Given the description of an element on the screen output the (x, y) to click on. 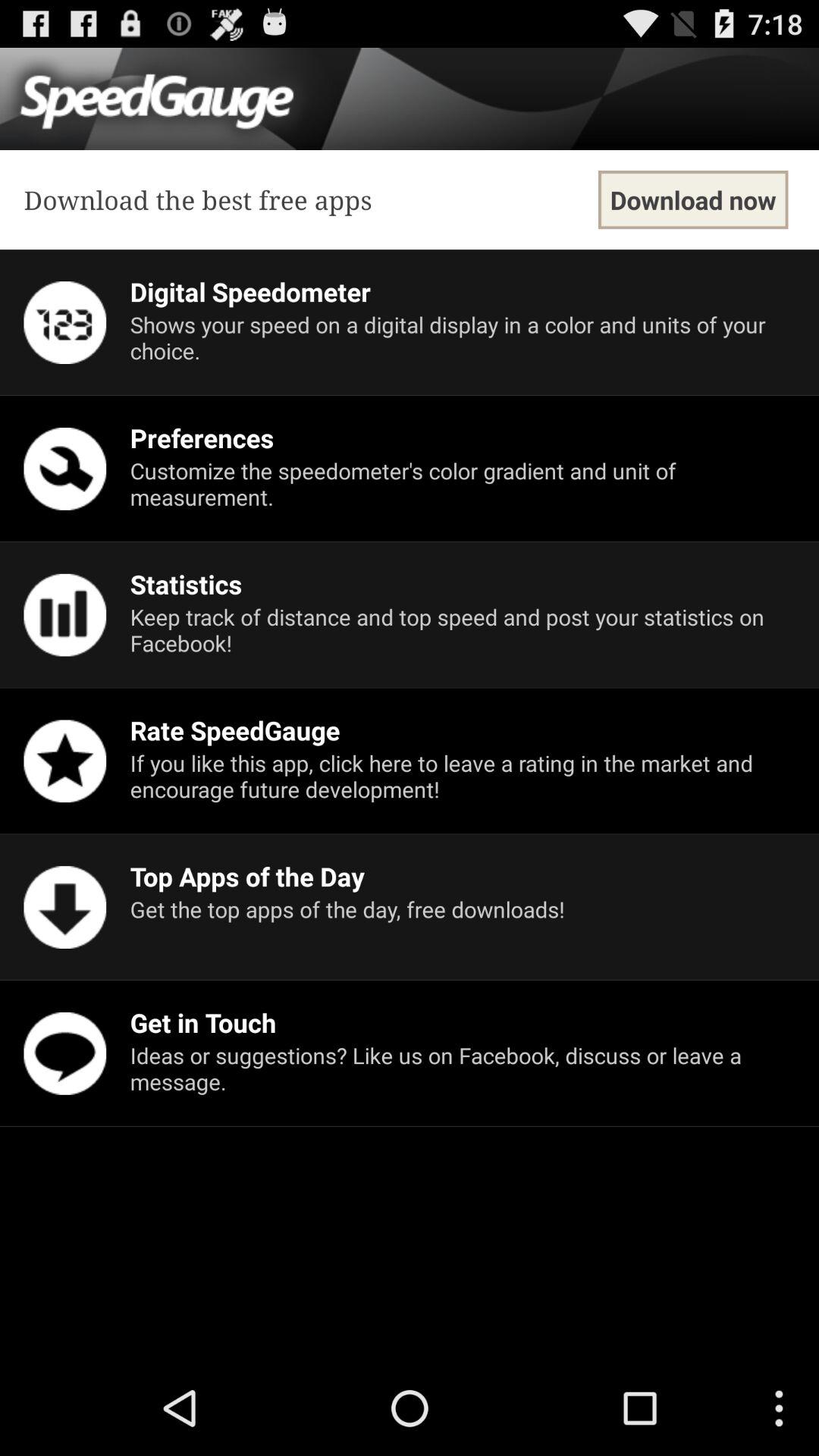
press item next to download the best icon (693, 199)
